Given the description of an element on the screen output the (x, y) to click on. 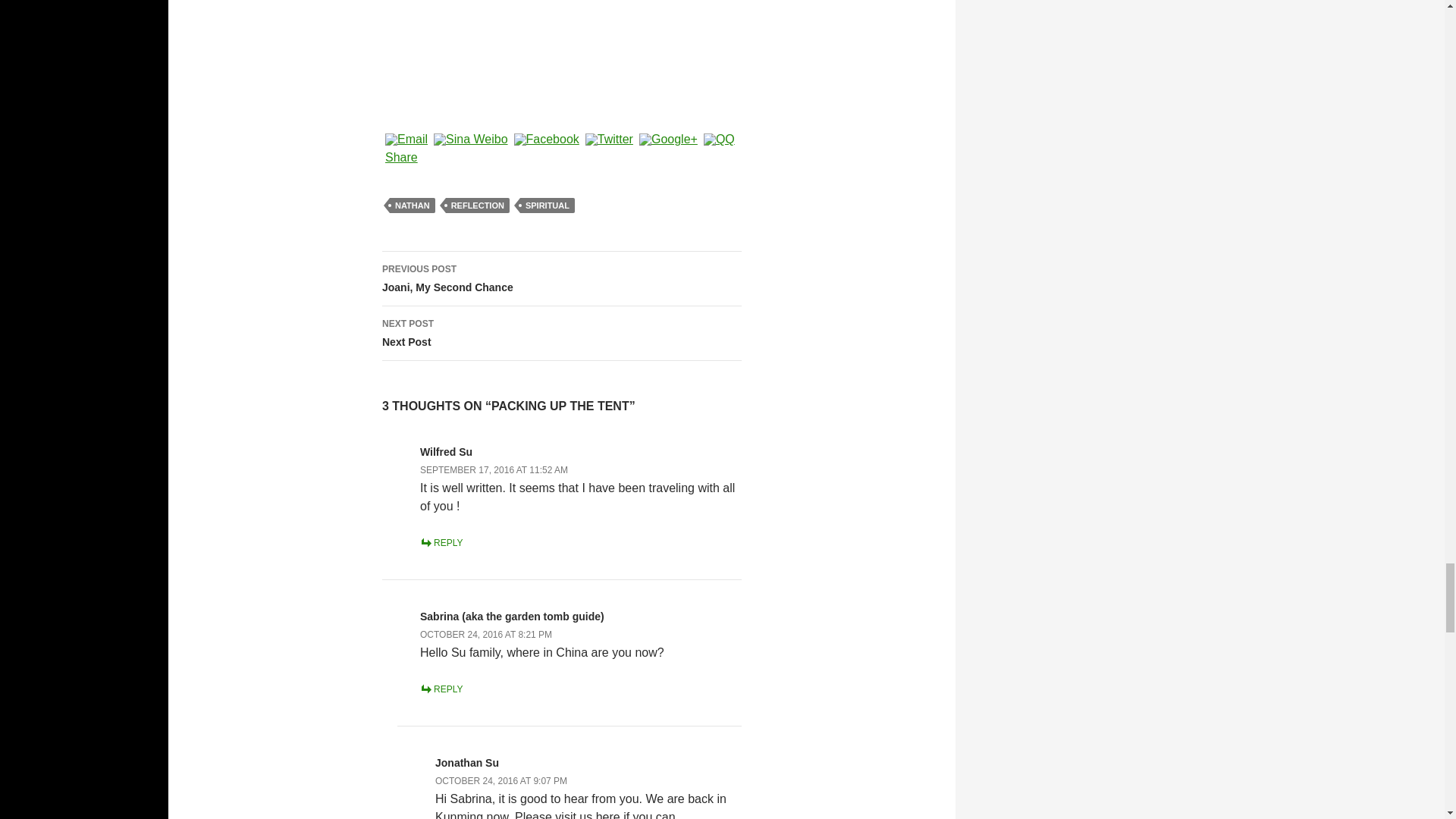
Facebook (546, 139)
Sina Weibo (470, 139)
QQ (719, 139)
Twitter (609, 139)
Email (405, 139)
